Given the description of an element on the screen output the (x, y) to click on. 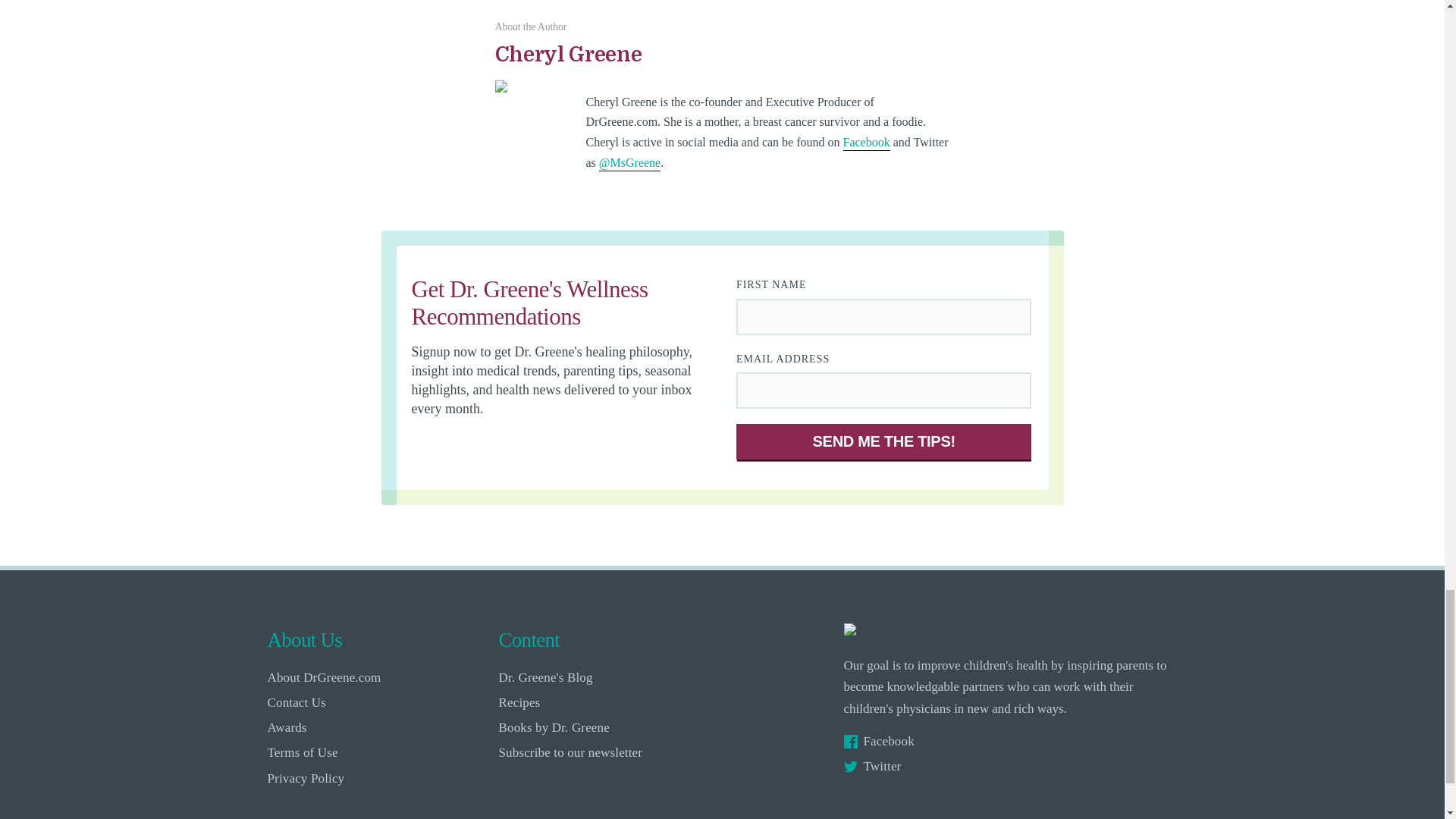
About DrGreene.com (378, 677)
Books by Dr. Greene (610, 727)
Awards (378, 727)
Facebook (866, 142)
Recipes (610, 702)
Privacy Policy (378, 778)
Contact Us (378, 702)
Cheryl Greene (722, 61)
Dr. Greene's Blog (610, 677)
Facebook (1009, 741)
